Given the description of an element on the screen output the (x, y) to click on. 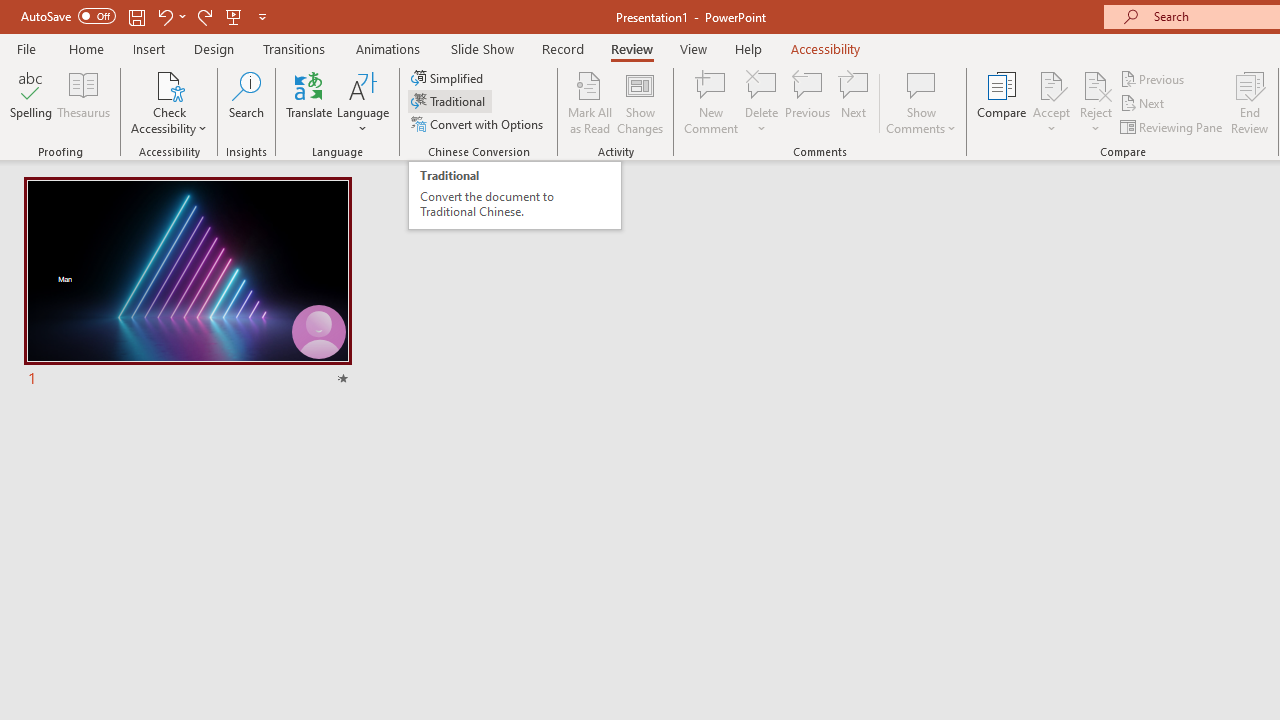
Compare (1002, 102)
Next (1144, 103)
Previous (1153, 78)
